Given the description of an element on the screen output the (x, y) to click on. 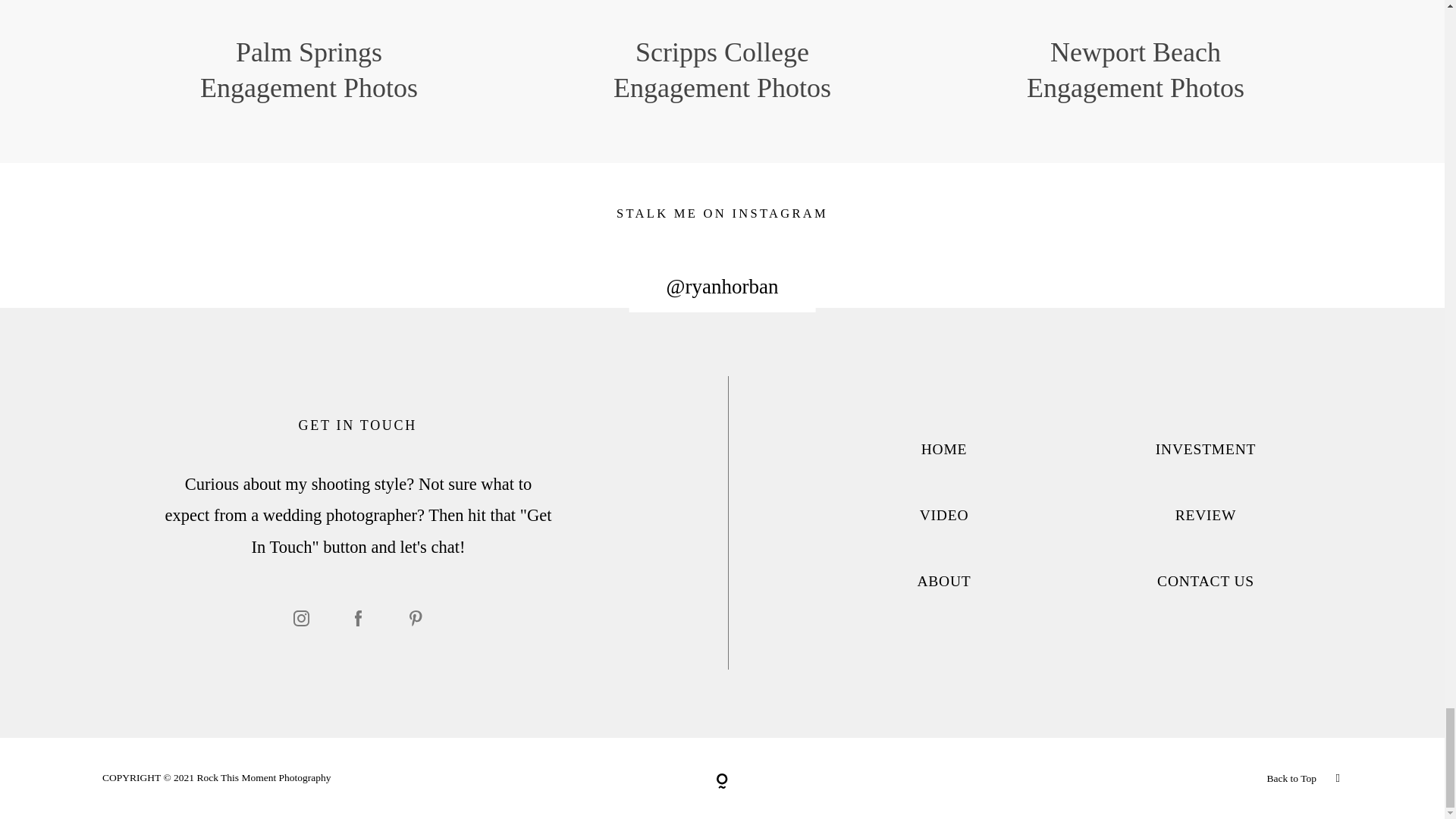
Back to Top (1291, 778)
Back to Top (1135, 778)
Sorry, your browser does not support inline SVG. (721, 781)
